Given the description of an element on the screen output the (x, y) to click on. 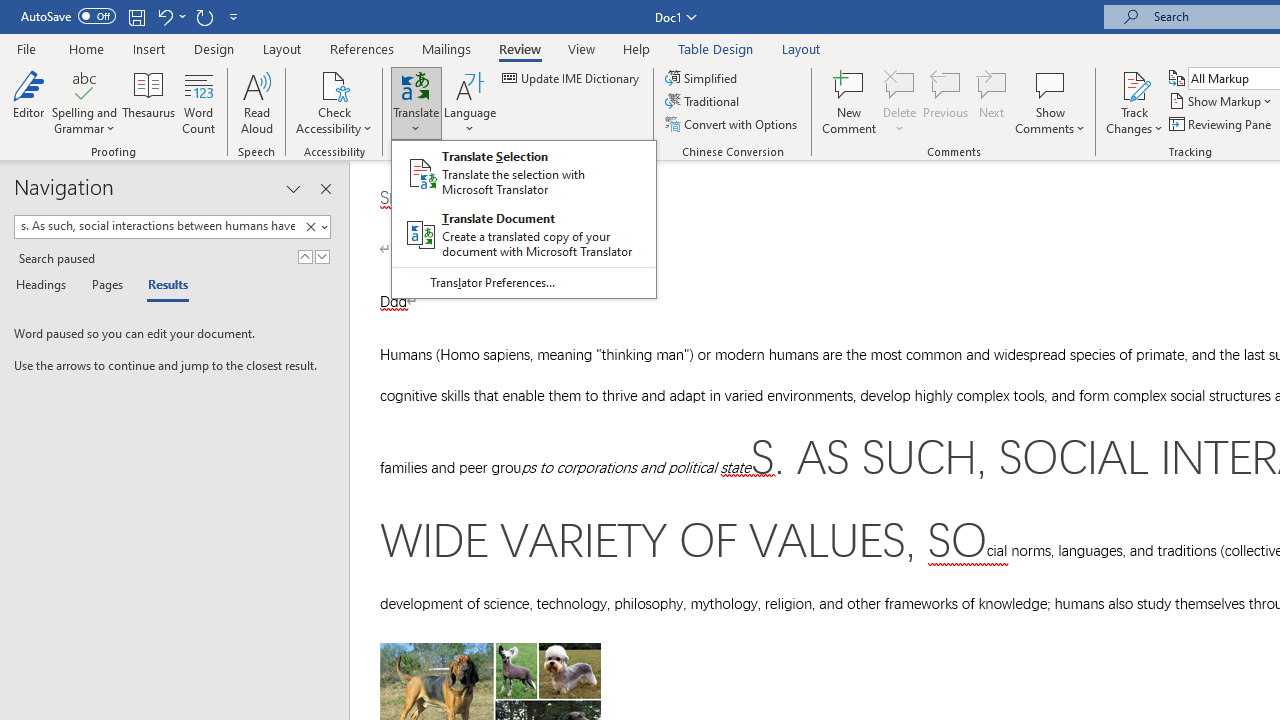
Results (161, 285)
Pages (105, 285)
Show Markup (1222, 101)
Show Comments (1050, 84)
Word Count (198, 102)
Next (991, 102)
Previous Result (304, 256)
Clear (310, 227)
Search document (157, 226)
